Given the description of an element on the screen output the (x, y) to click on. 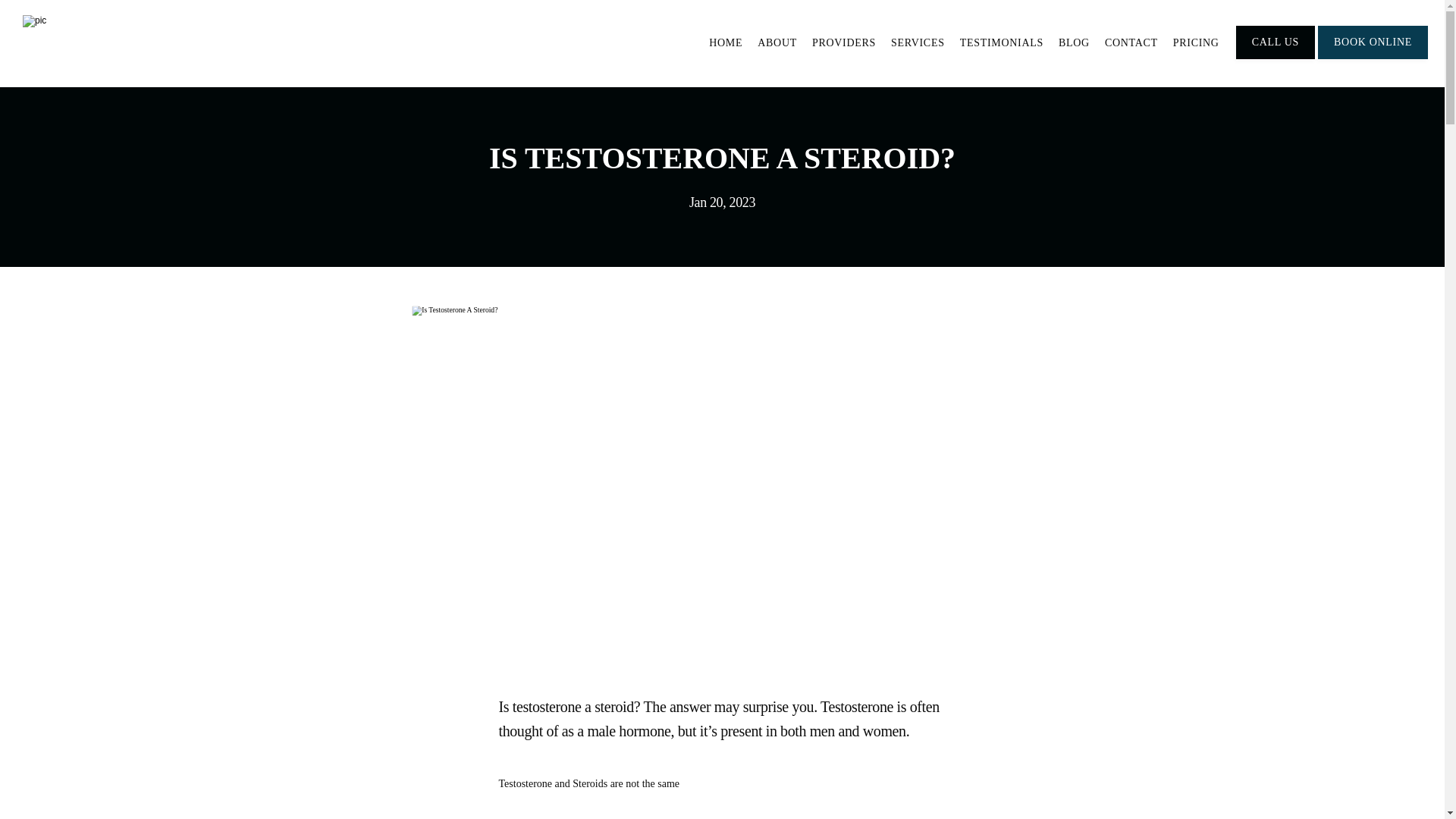
BLOG (1073, 42)
SERVICES (917, 42)
CALL US (1275, 57)
HOME (725, 42)
BOOK ONLINE (1372, 57)
PRICING (1196, 42)
PROVIDERS (844, 42)
ABOUT (776, 42)
TESTIMONIALS (1001, 42)
CONTACT (1131, 42)
